Given the description of an element on the screen output the (x, y) to click on. 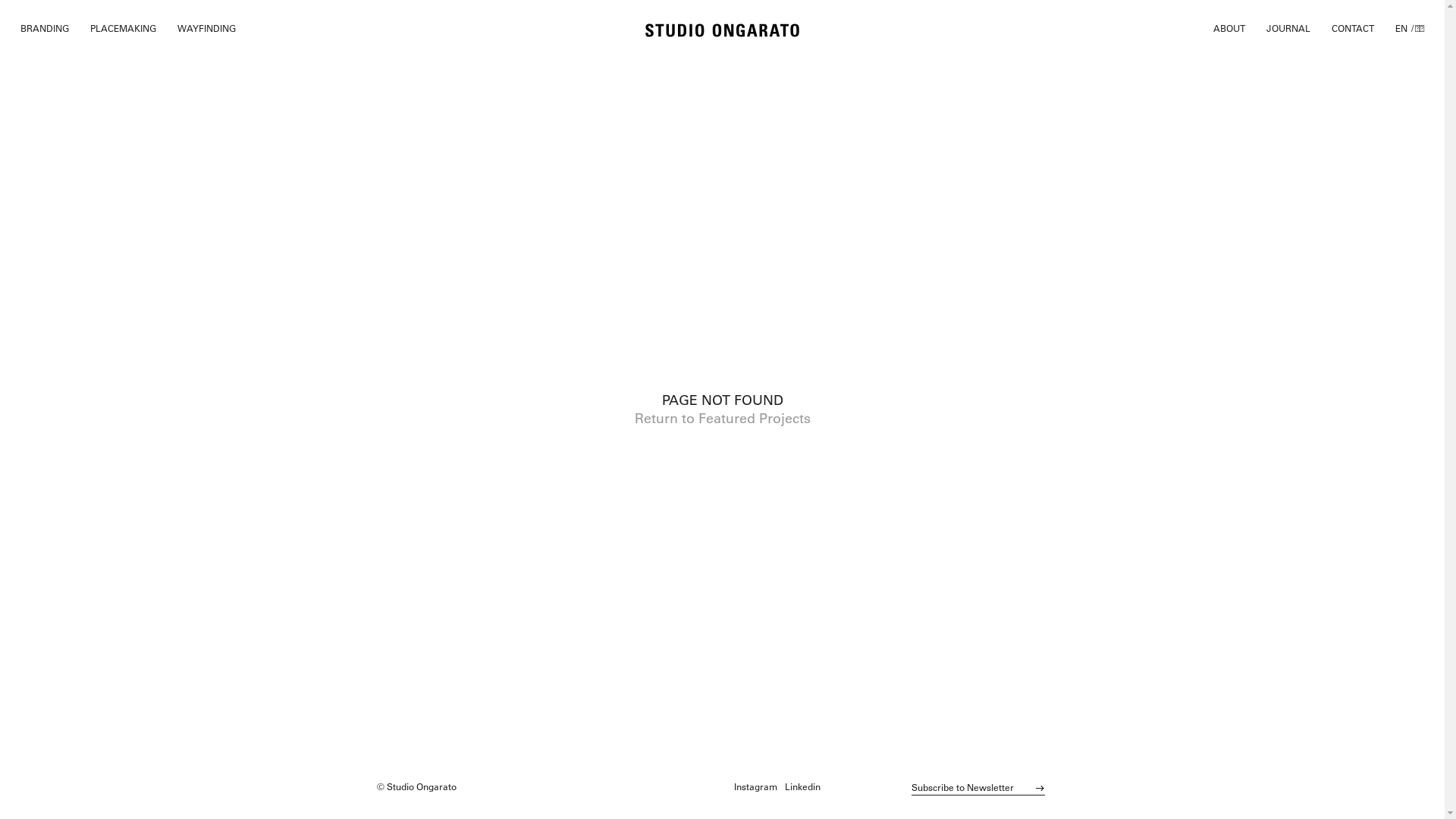
Submit Element type: text (1039, 787)
BRANDING Element type: text (44, 27)
JOURNAL Element type: text (1288, 27)
CONTACT Element type: text (1352, 27)
Return to Featured Projects Element type: text (721, 418)
Linkedin Element type: text (801, 786)
Instagram Element type: text (755, 786)
PLACEMAKING Element type: text (123, 27)
EN Element type: text (1401, 27)
ABOUT Element type: text (1229, 27)
WAYFINDING Element type: text (206, 27)
